Given the description of an element on the screen output the (x, y) to click on. 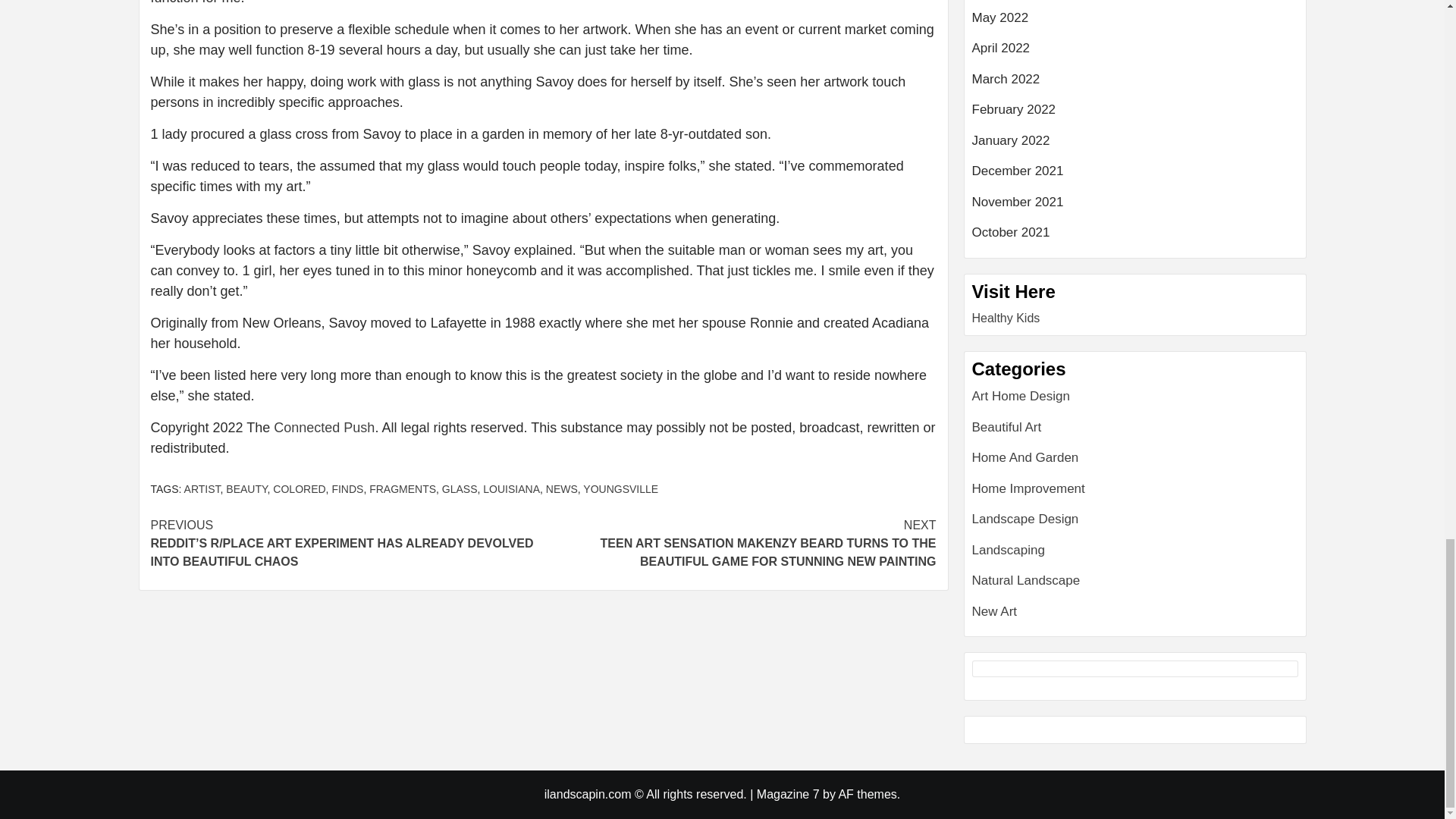
BEAUTY (245, 489)
NEWS (562, 489)
FRAGMENTS (402, 489)
ARTIST (202, 489)
GLASS (459, 489)
Connected Push (323, 427)
COLORED (298, 489)
LOUISIANA (511, 489)
YOUNGSVILLE (620, 489)
FINDS (346, 489)
